Given the description of an element on the screen output the (x, y) to click on. 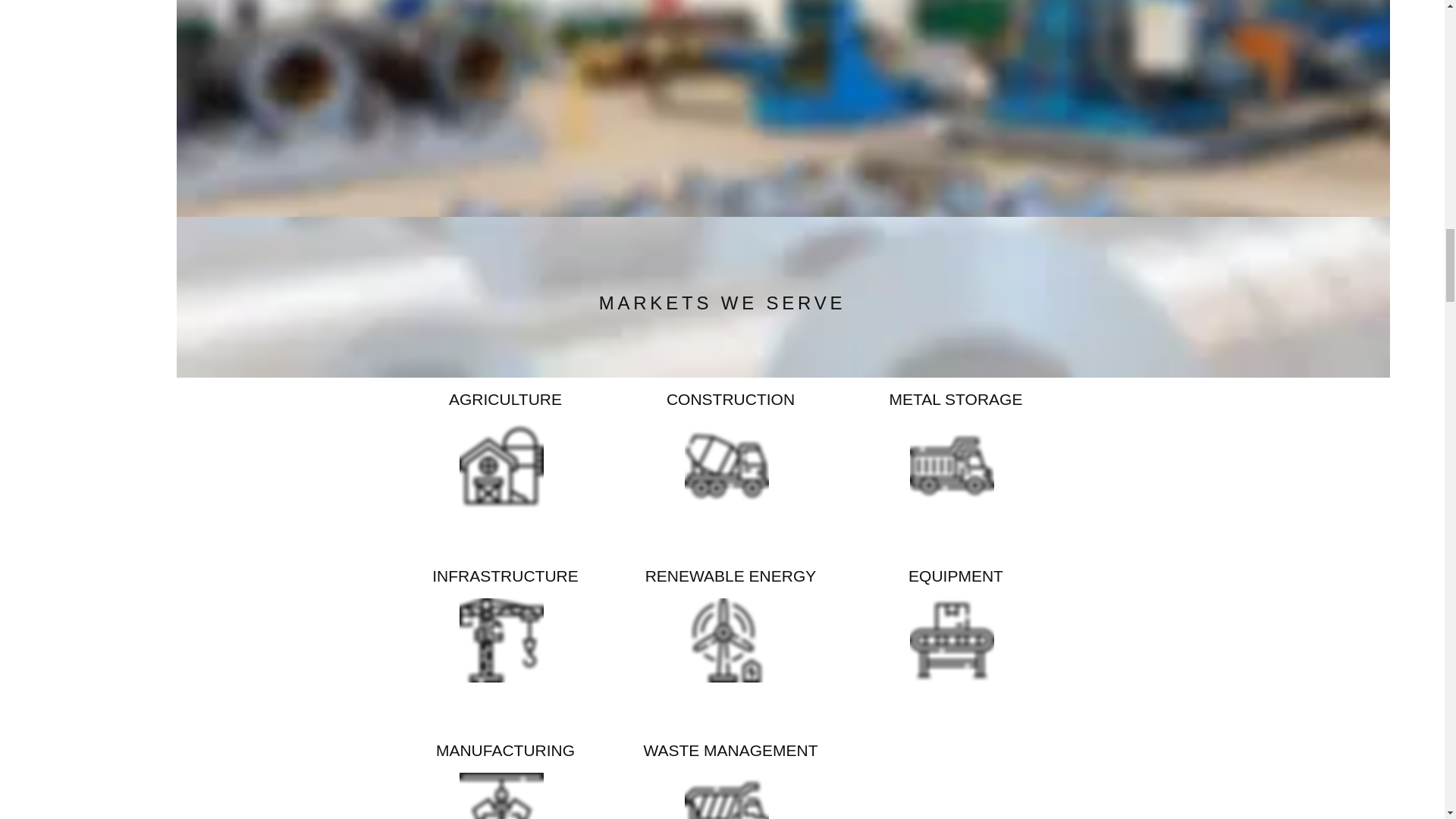
028-crane.png (726, 640)
028-crane.png (501, 796)
028-crane.png (726, 465)
028-crane.png (501, 640)
028-crane.png (726, 796)
028-crane.png (952, 640)
028-crane.png (501, 465)
028-crane.png (952, 465)
